Given the description of an element on the screen output the (x, y) to click on. 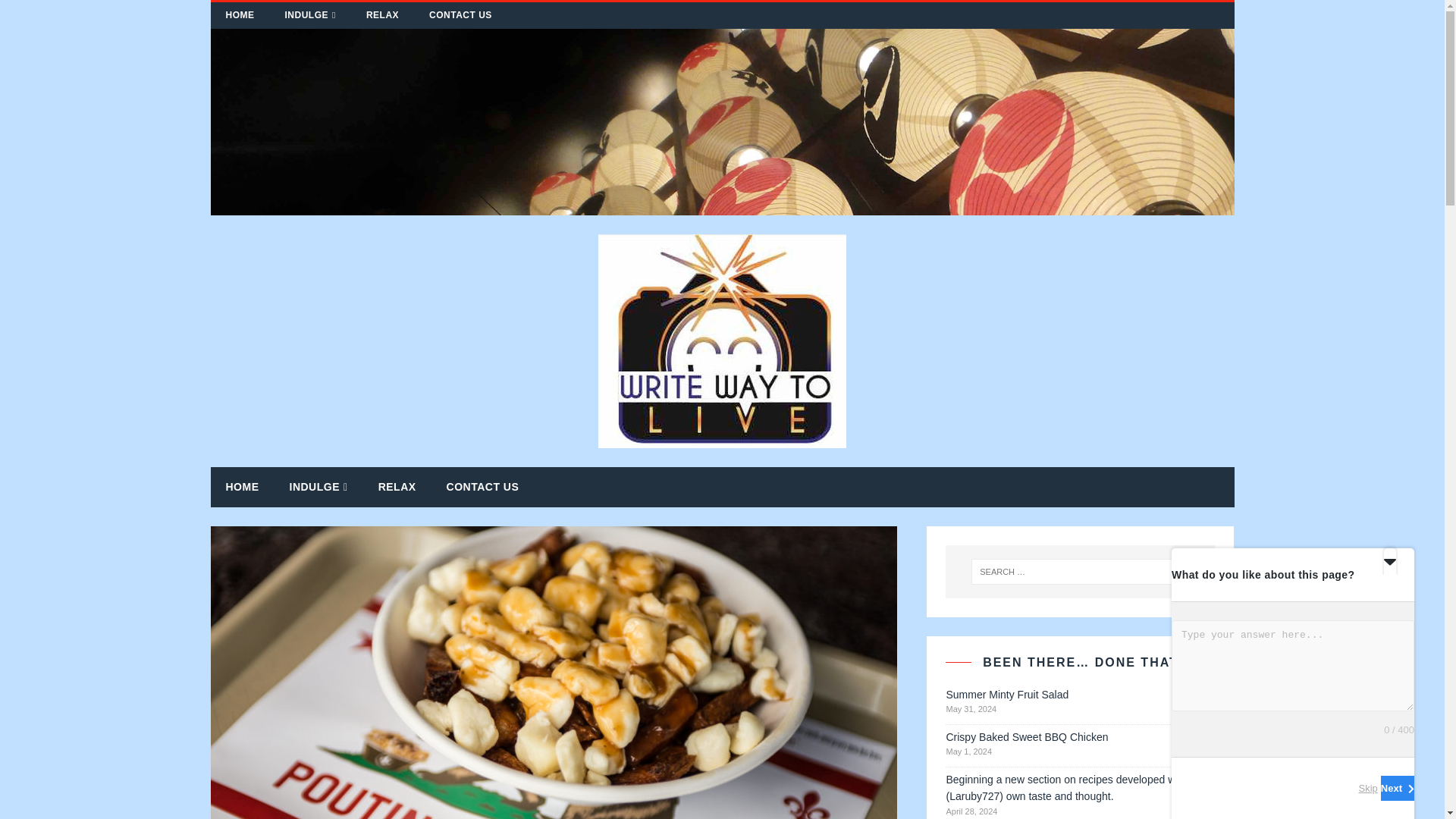
RELAX (381, 15)
HOME (243, 486)
CONTACT US (459, 15)
HOME (240, 15)
INDULGE (309, 15)
INDULGE (318, 486)
Write Way To Live (722, 206)
